Given the description of an element on the screen output the (x, y) to click on. 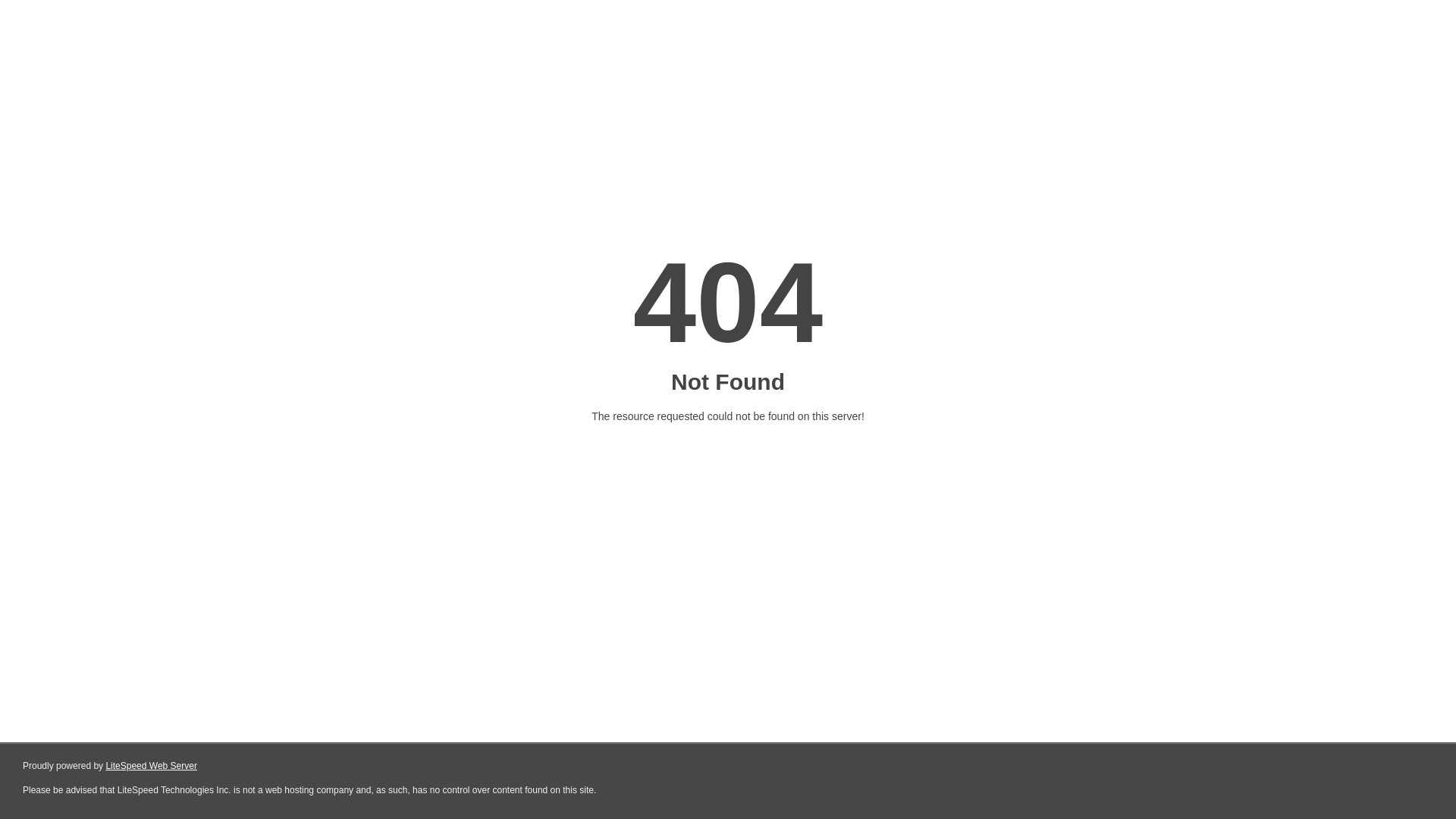
LiteSpeed Web Server Element type: text (151, 765)
